Given the description of an element on the screen output the (x, y) to click on. 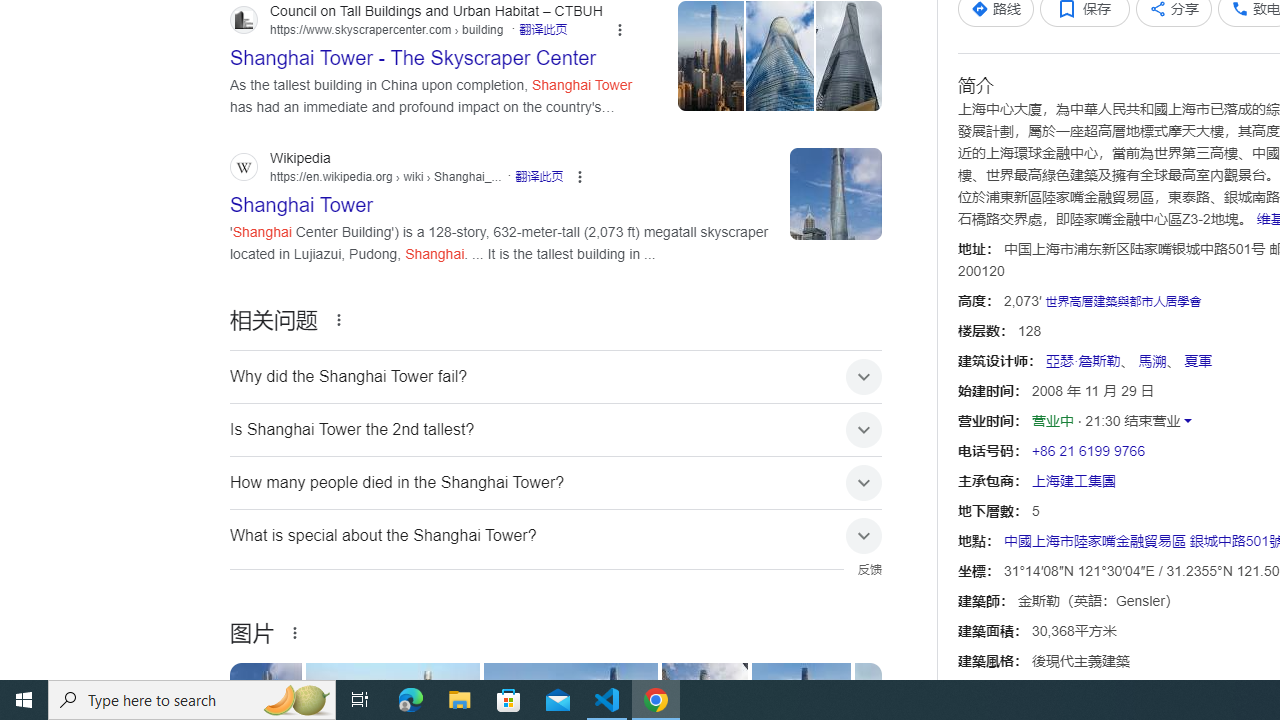
What is special about the Shanghai Tower? (555, 535)
